Given the description of an element on the screen output the (x, y) to click on. 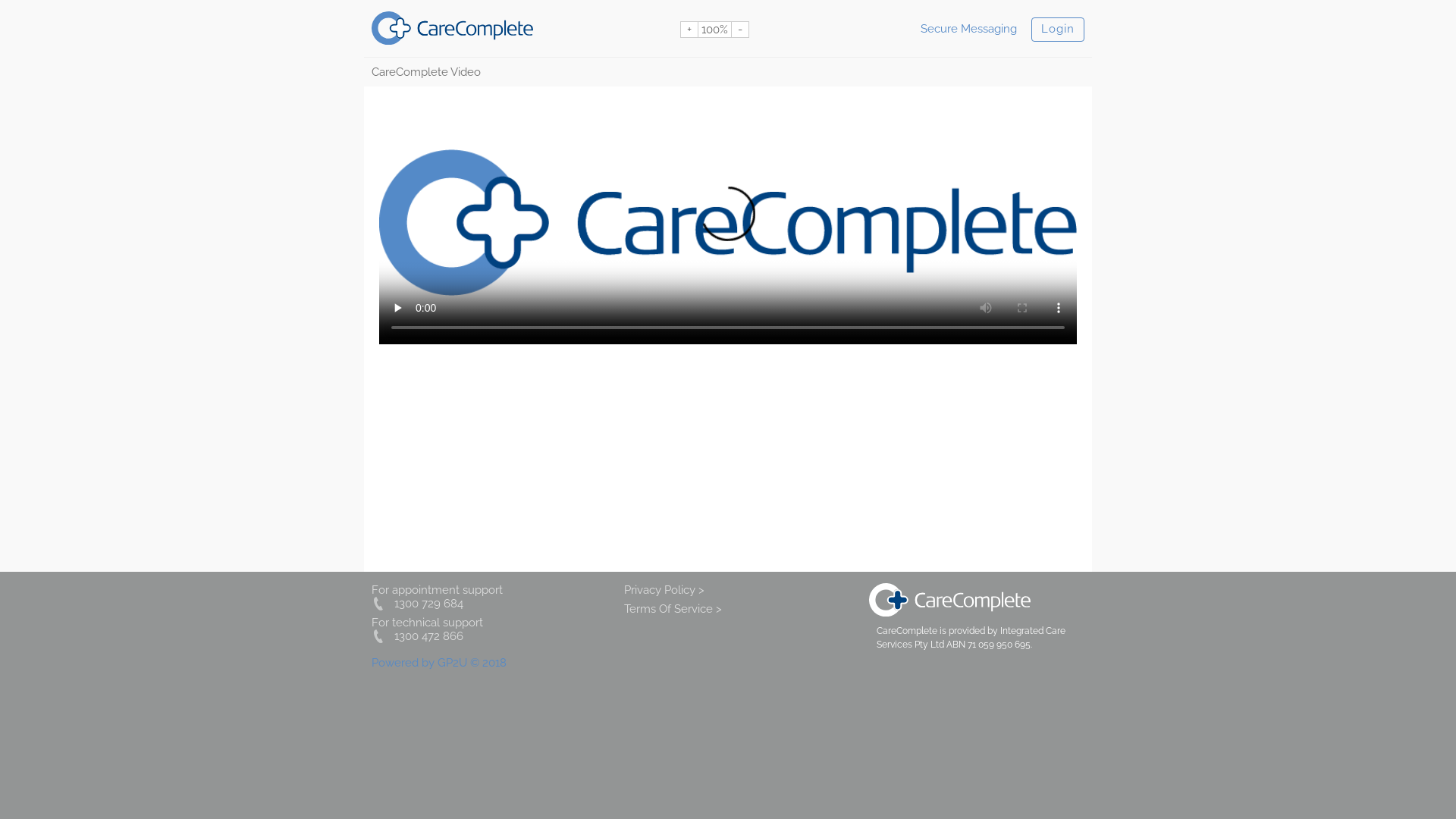
For appointment support
1300 729 684 Element type: text (436, 595)
 -  Element type: text (740, 29)
100% Element type: text (714, 29)
For technical support
1300 472 866 Element type: text (427, 629)
Privacy Policy > Element type: text (664, 589)
 +  Element type: text (688, 29)
Terms Of Service > Element type: text (672, 608)
Login Element type: text (1057, 28)
Secure Messaging Element type: text (968, 28)
